Given the description of an element on the screen output the (x, y) to click on. 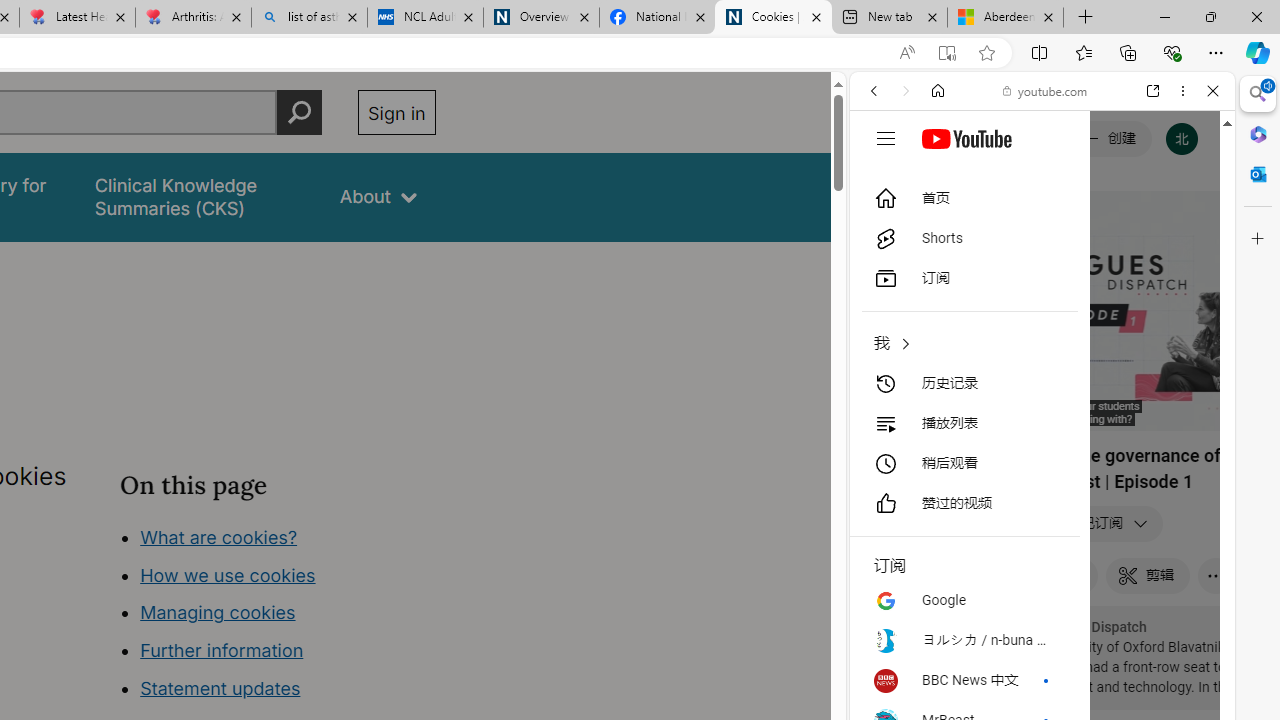
Forward (906, 91)
Close Customize pane (1258, 239)
YouTube (1034, 296)
This site scope (936, 180)
Perform search (299, 112)
Search videos from youtube.com (1005, 657)
#you (1042, 445)
About (378, 196)
VIDEOS (1006, 228)
Google (1042, 494)
Search Filter, WEB (882, 228)
